Given the description of an element on the screen output the (x, y) to click on. 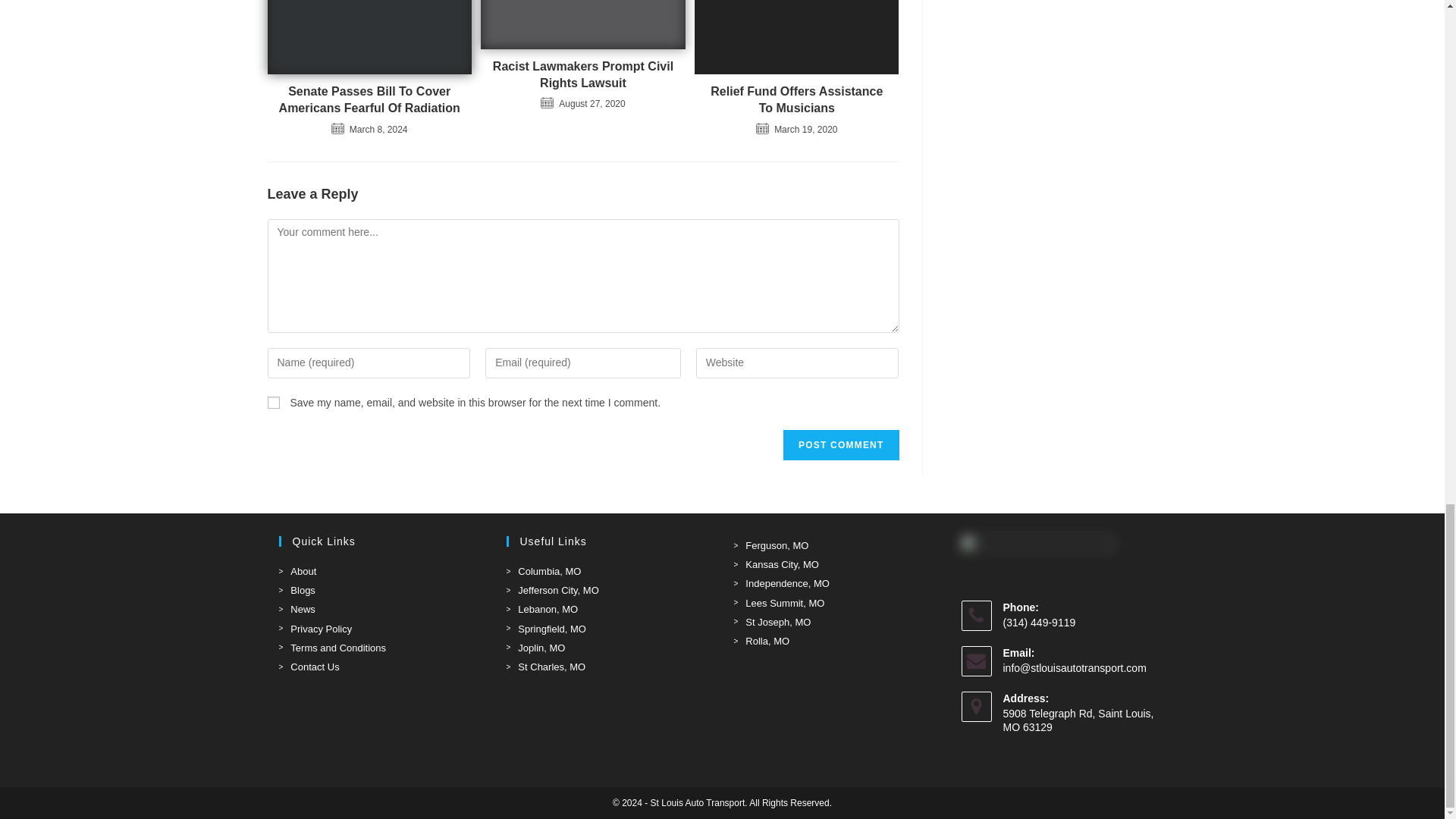
yes (272, 402)
Post Comment (840, 444)
